Given the description of an element on the screen output the (x, y) to click on. 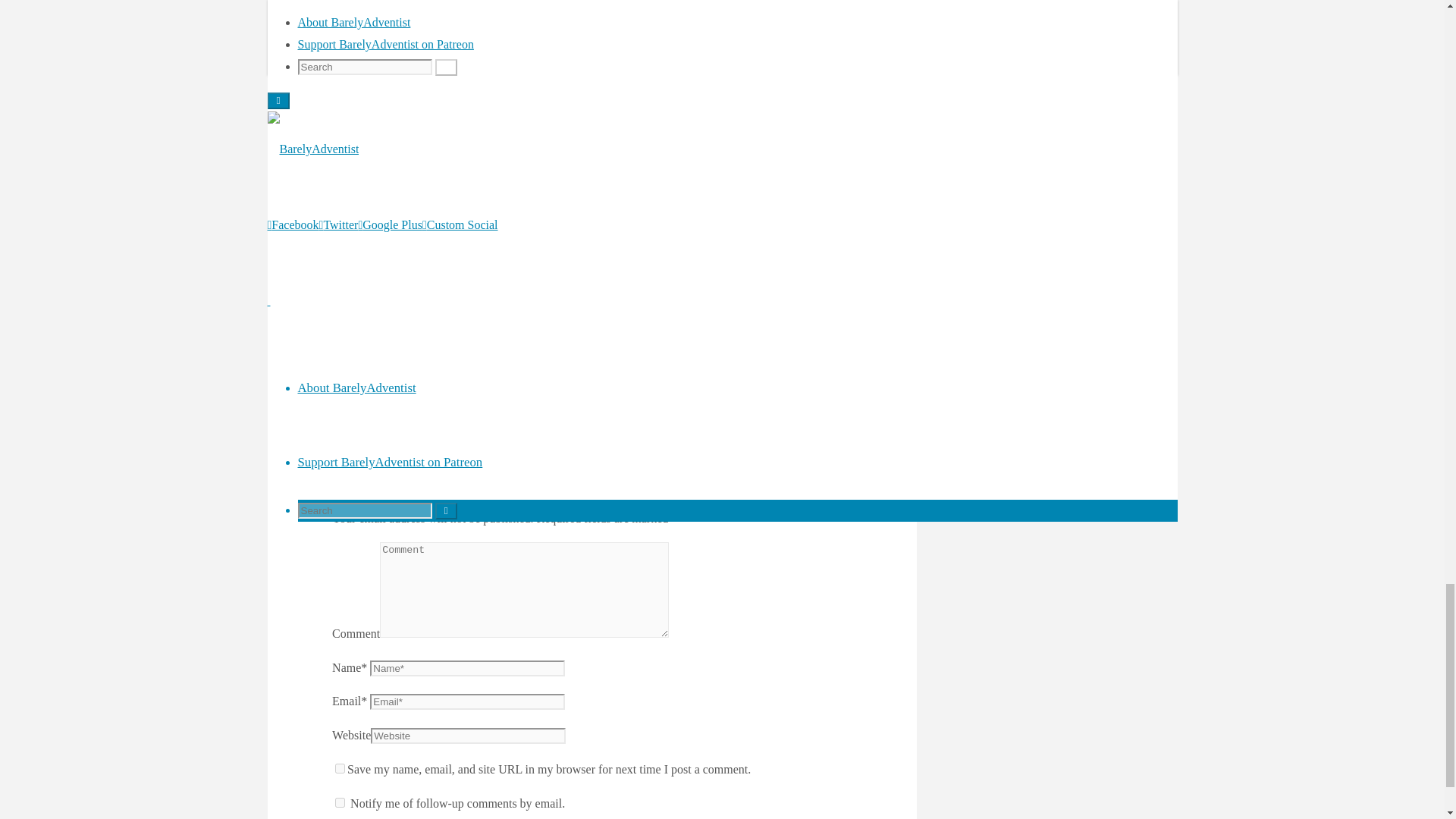
subscribe (339, 802)
yes (339, 768)
